Given the description of an element on the screen output the (x, y) to click on. 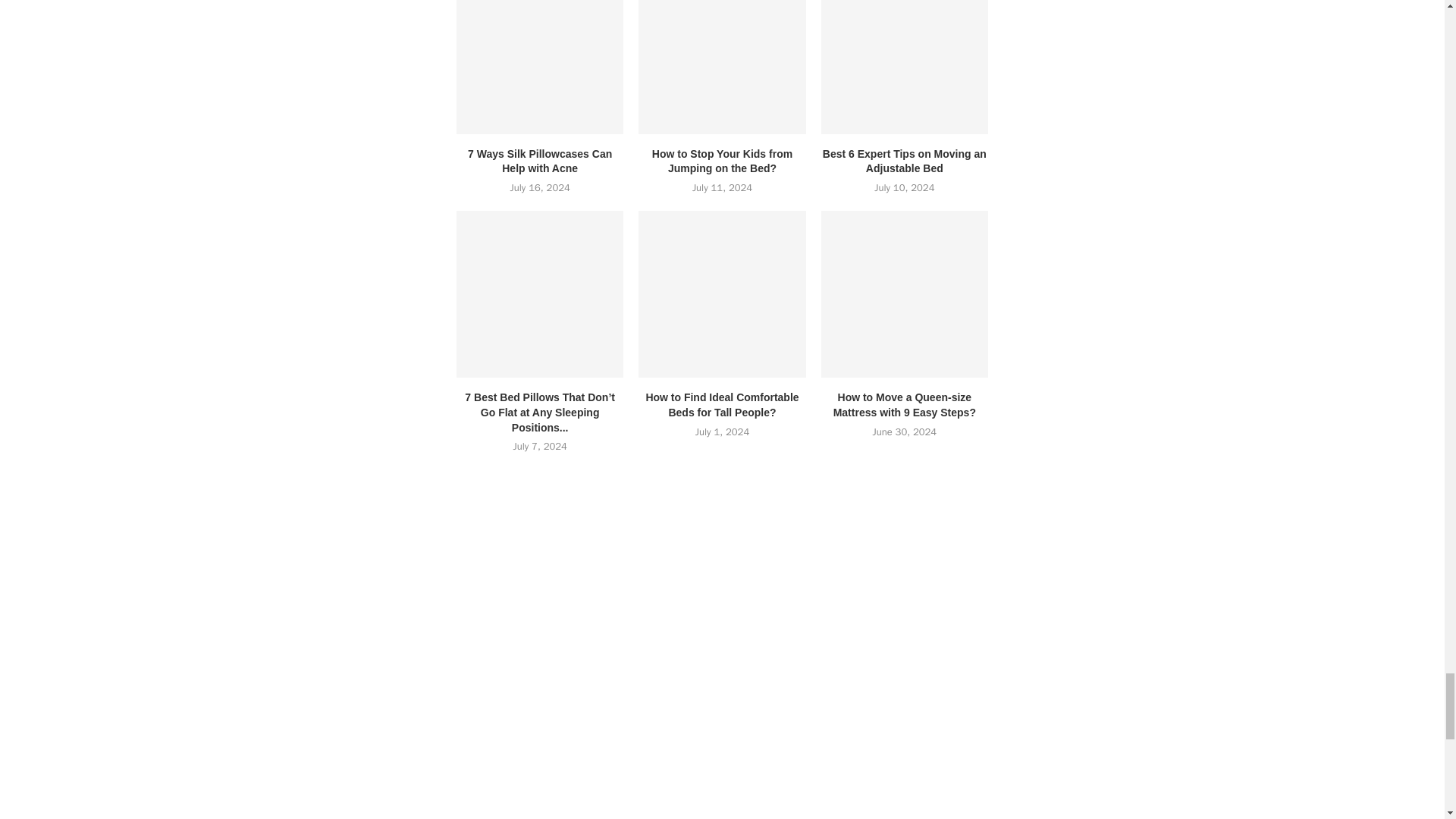
How to Find Ideal Comfortable Beds for Tall People? (722, 293)
7 Ways Silk Pillowcases Can Help with Acne (540, 67)
How to Move a Queen-size Mattress with 9 Easy Steps? (904, 293)
Best 6 Expert Tips on Moving an Adjustable Bed (904, 67)
How to Stop Your Kids from Jumping on the Bed? (722, 67)
